Given the description of an element on the screen output the (x, y) to click on. 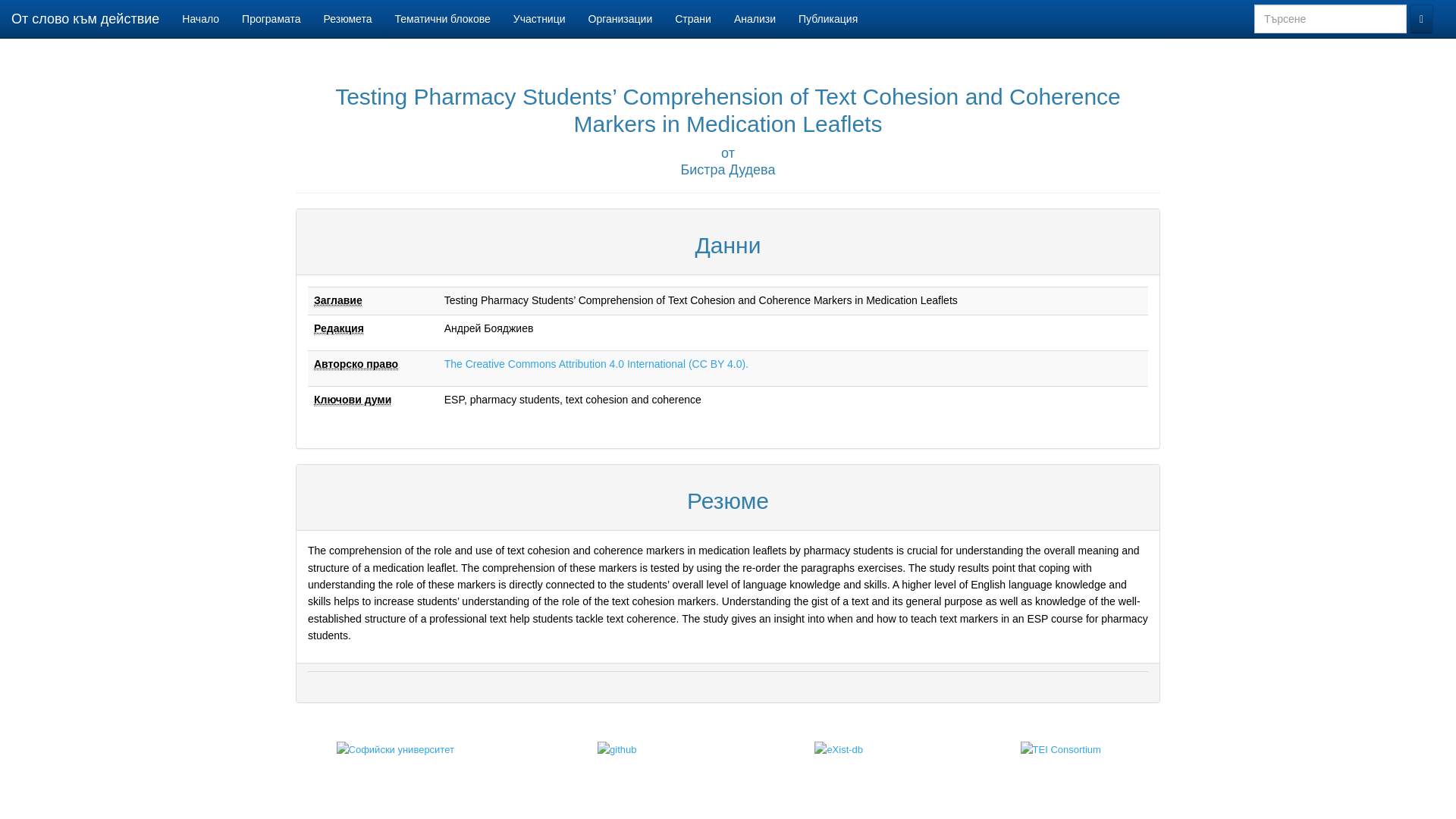
3 characters minimum (1329, 18)
